Given the description of an element on the screen output the (x, y) to click on. 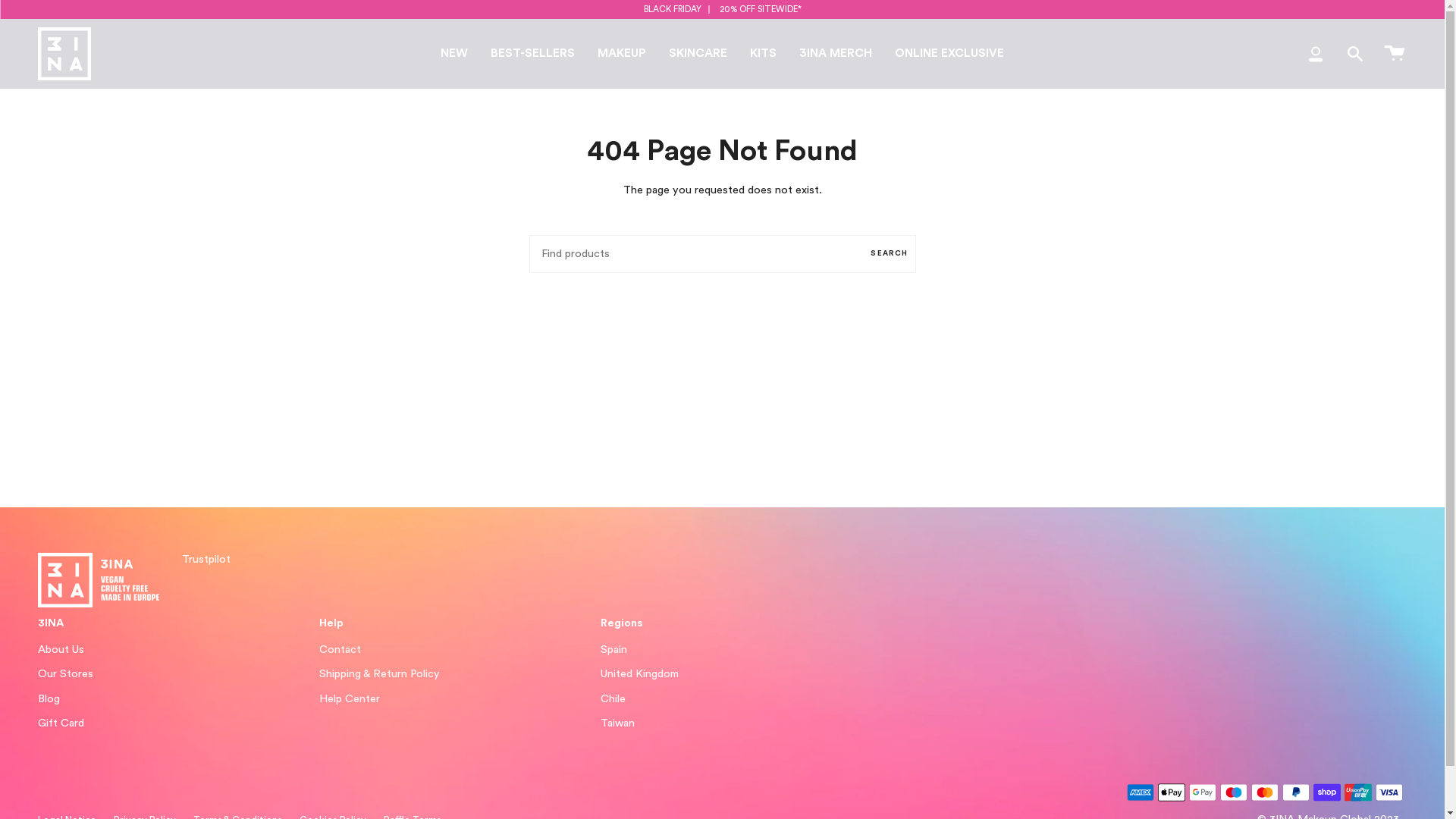
About Us Element type: text (60, 649)
Blog Element type: text (48, 698)
Cart Element type: text (1394, 53)
My Account Element type: text (1315, 53)
MAKEUP Element type: text (621, 53)
Help Center Element type: text (349, 698)
Taiwan Element type: text (617, 722)
SEARCH Element type: text (888, 254)
United Kingdom Element type: text (639, 673)
ONLINE EXCLUSIVE Element type: text (949, 53)
Contact Element type: text (339, 649)
Trustpilot Element type: text (206, 558)
SKINCARE Element type: text (697, 53)
Our Stores Element type: text (65, 673)
NEW Element type: text (454, 53)
Shipping & Return Policy Element type: text (379, 673)
Chile Element type: text (612, 698)
3INA MERCH Element type: text (835, 53)
KITS Element type: text (762, 53)
BEST-SELLERS Element type: text (532, 53)
Search Element type: text (1354, 53)
Spain Element type: text (613, 649)
Gift Card Element type: text (60, 722)
